Given the description of an element on the screen output the (x, y) to click on. 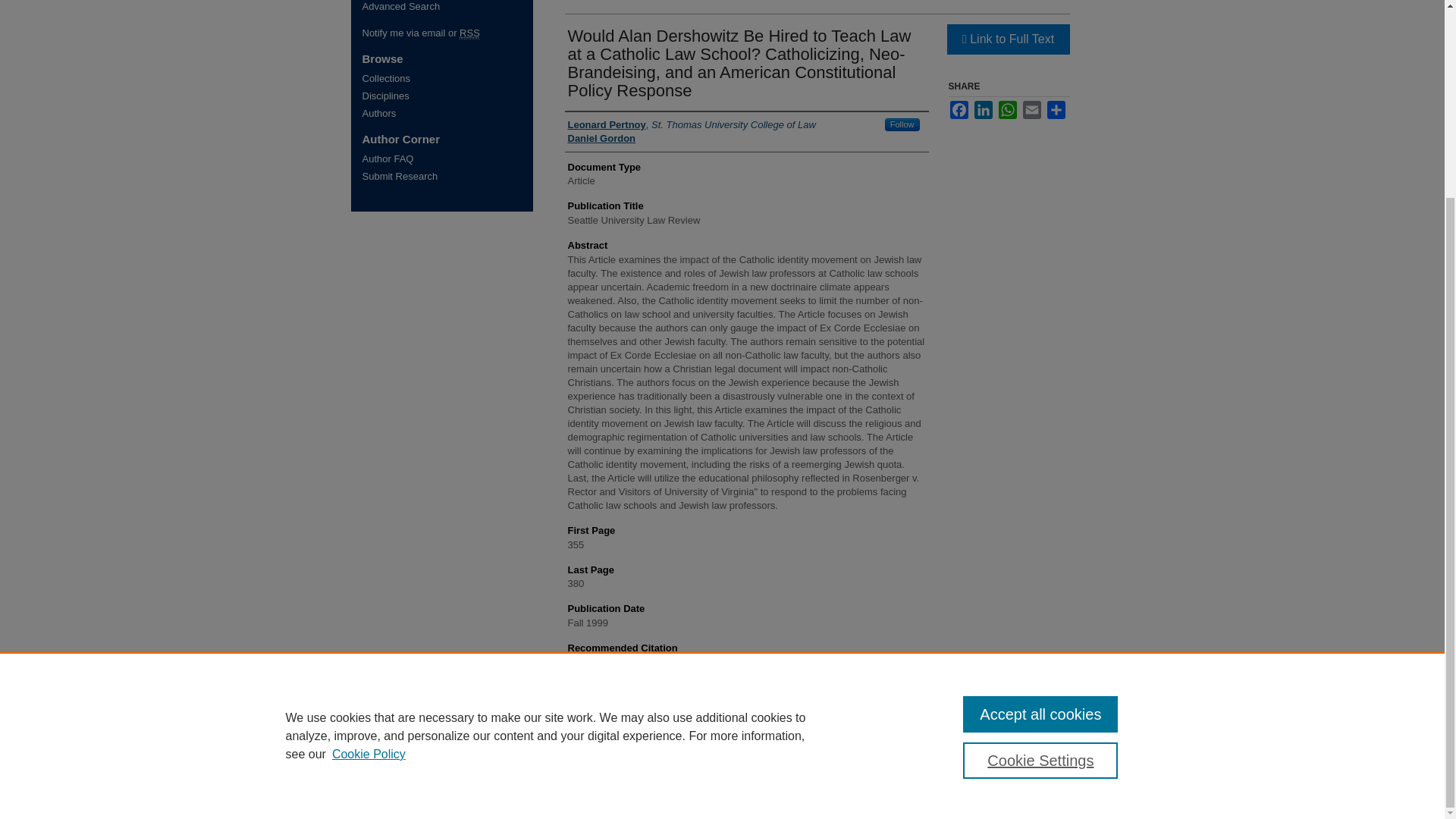
Leonard Pertnoy, St. Thomas University College of Law (691, 124)
Email or RSS Notifications (447, 32)
Disciplines (447, 95)
LinkedIn (982, 109)
Notify me via email or RSS (447, 32)
Browse by Disciplines (447, 95)
Browse by Collections (447, 78)
Advanced Search (401, 6)
Collections (447, 78)
WhatsApp (1006, 109)
Link opens in new window (1007, 39)
Share (1055, 109)
Follow Leonard Pertnoy (902, 124)
Daniel Gordon (600, 138)
Submit Research (447, 175)
